Given the description of an element on the screen output the (x, y) to click on. 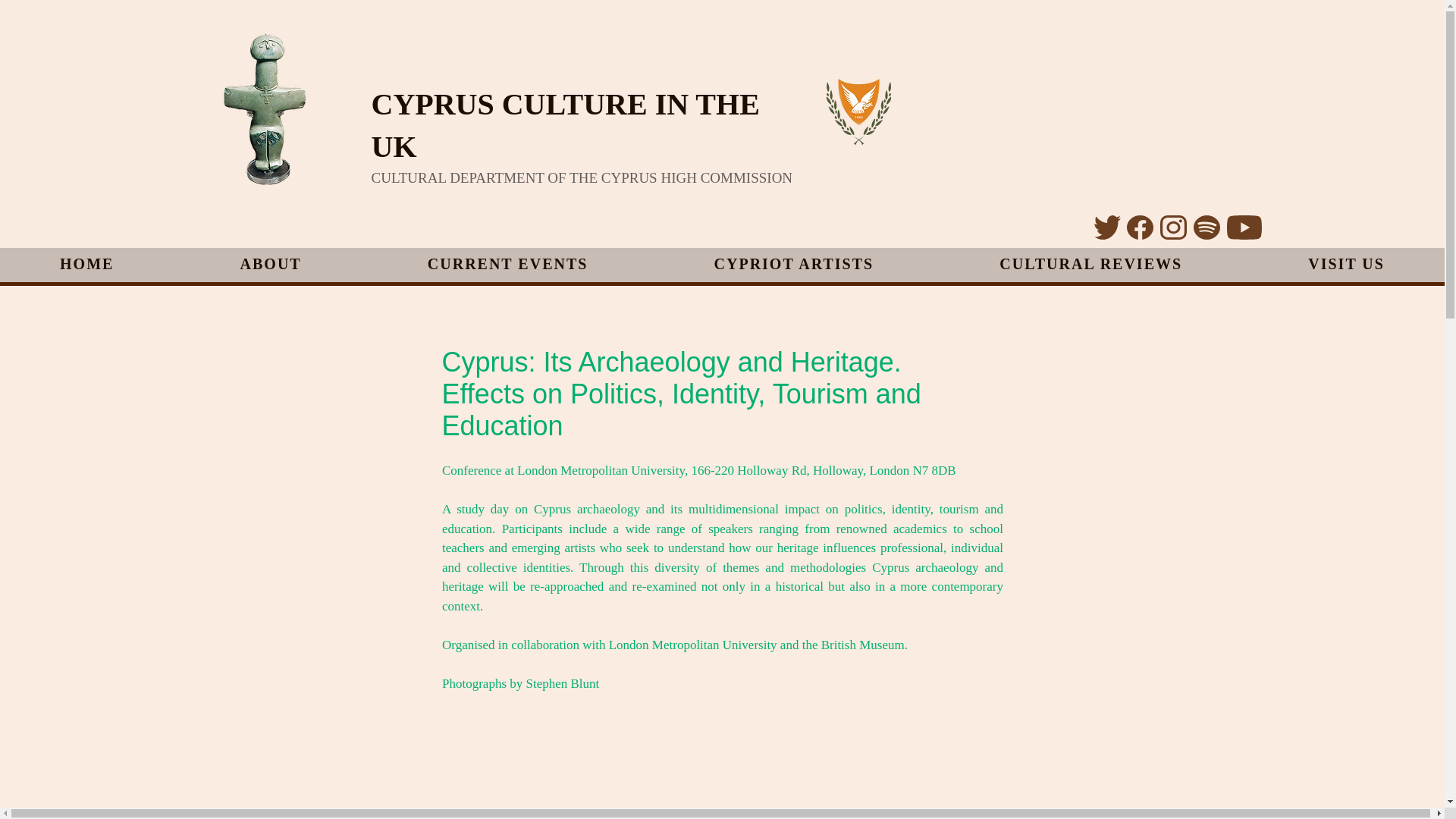
CYPRIOT ARTISTS (793, 264)
CURRENT EVENTS (507, 264)
VISIT US (1345, 264)
CULTURAL REVIEWS (1090, 264)
ABOUT (270, 264)
HOME (86, 264)
